Given the description of an element on the screen output the (x, y) to click on. 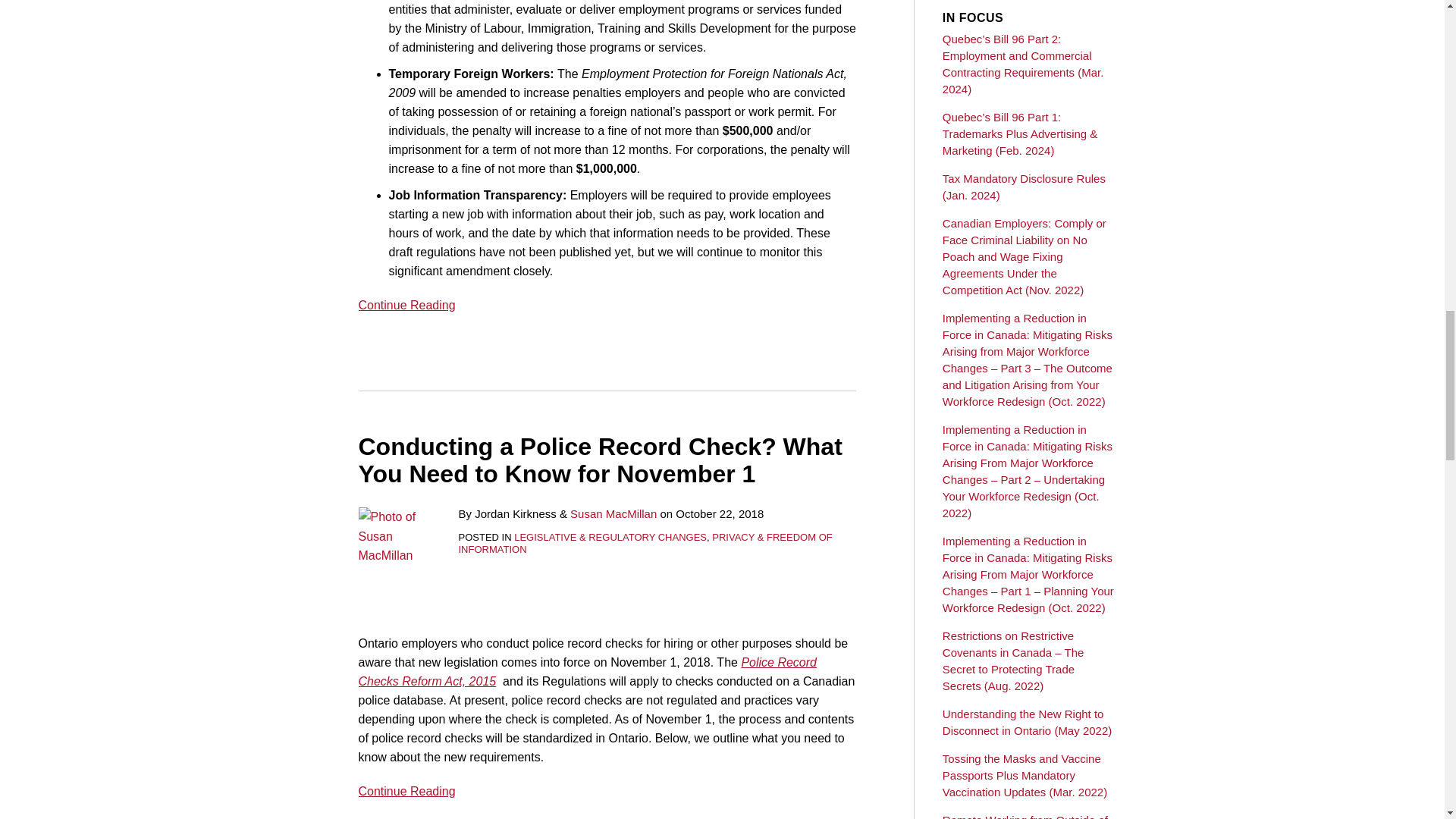
Susan MacMillan (613, 513)
Police Record Checks Reform Act, 2015 (586, 671)
